Given the description of an element on the screen output the (x, y) to click on. 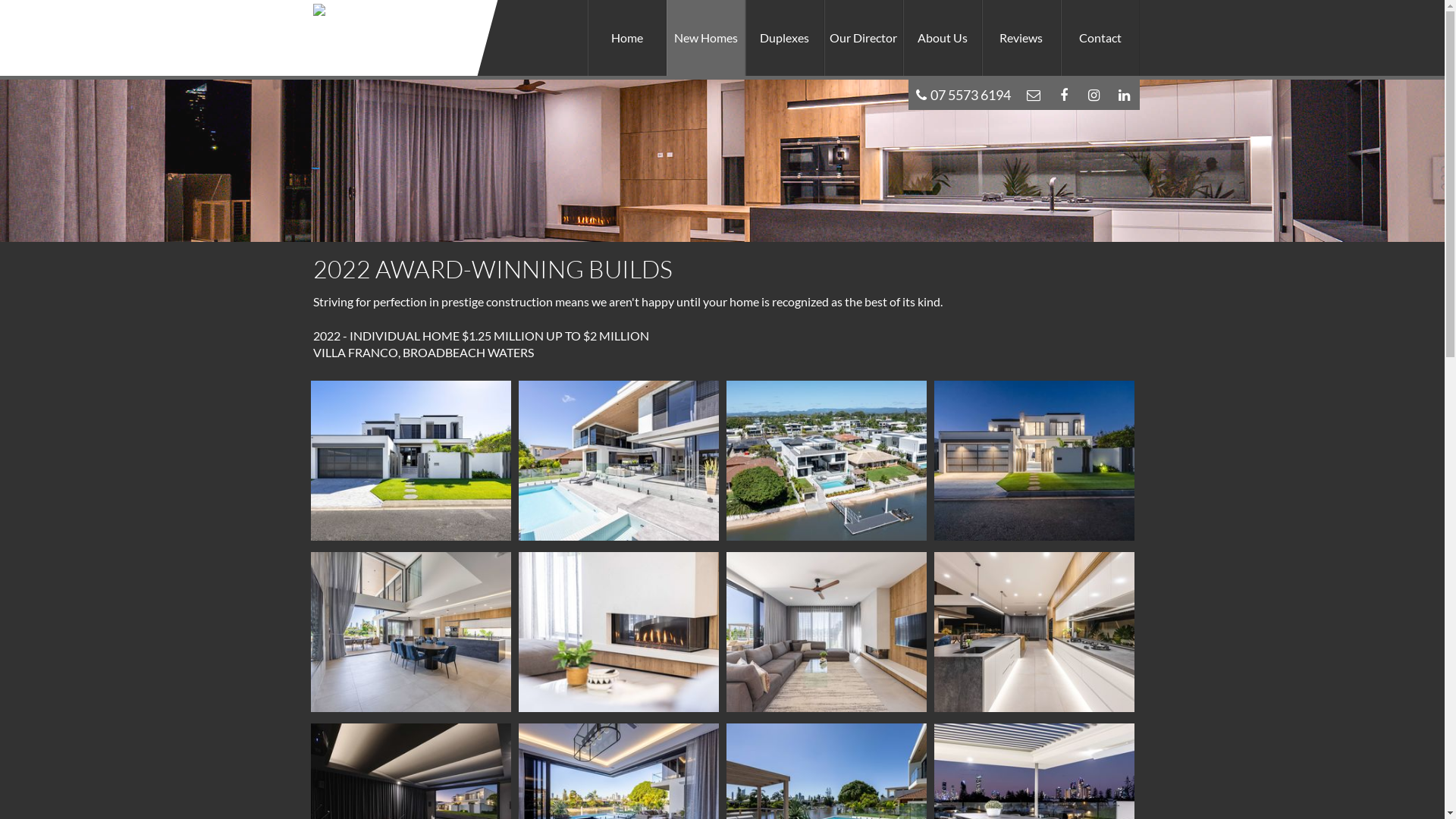
About Us Element type: text (941, 37)
Reviews Element type: text (1020, 37)
Our Director Element type: text (862, 37)
07 5573 6194 Element type: text (963, 94)
Duplexes Element type: text (783, 37)
Home Element type: text (625, 37)
New Homes Element type: text (704, 37)
Contact Element type: text (1099, 37)
